Given the description of an element on the screen output the (x, y) to click on. 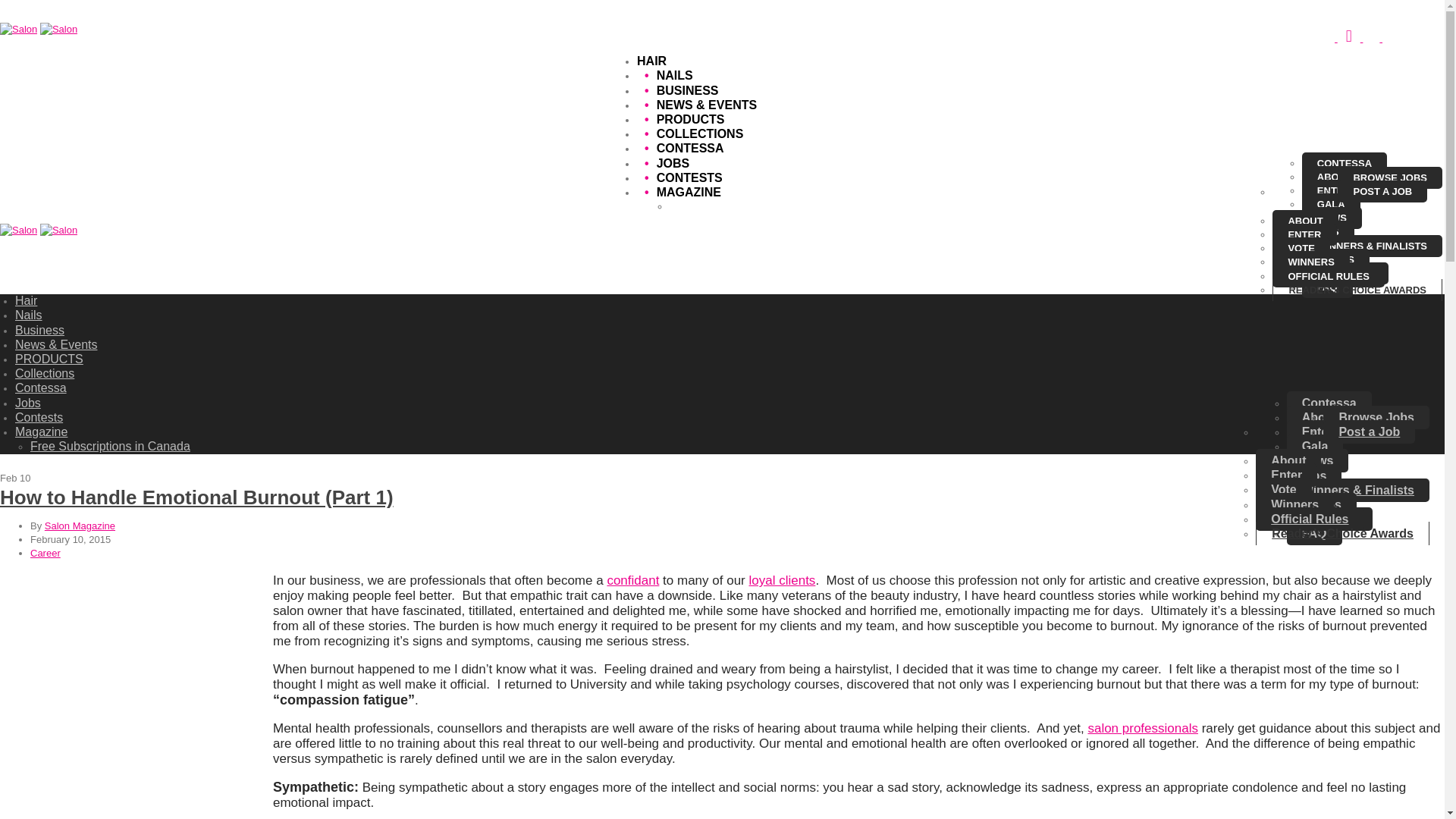
POST A JOB (1382, 191)
SPONSORS (1345, 273)
HAIR (651, 60)
NEWS (1331, 218)
ENTER (1304, 234)
GALA (1330, 204)
FREE SUBSCRIPTIONS IN CANADA (752, 206)
COLLECTIONS (689, 133)
View all posts by Salon Magazine (80, 525)
VIDEOS (1335, 259)
TIPS (1327, 231)
VOTE (1300, 248)
OFFICIAL RULES (1328, 276)
BUSINESS (677, 90)
MAGAZINE (678, 192)
